Given the description of an element on the screen output the (x, y) to click on. 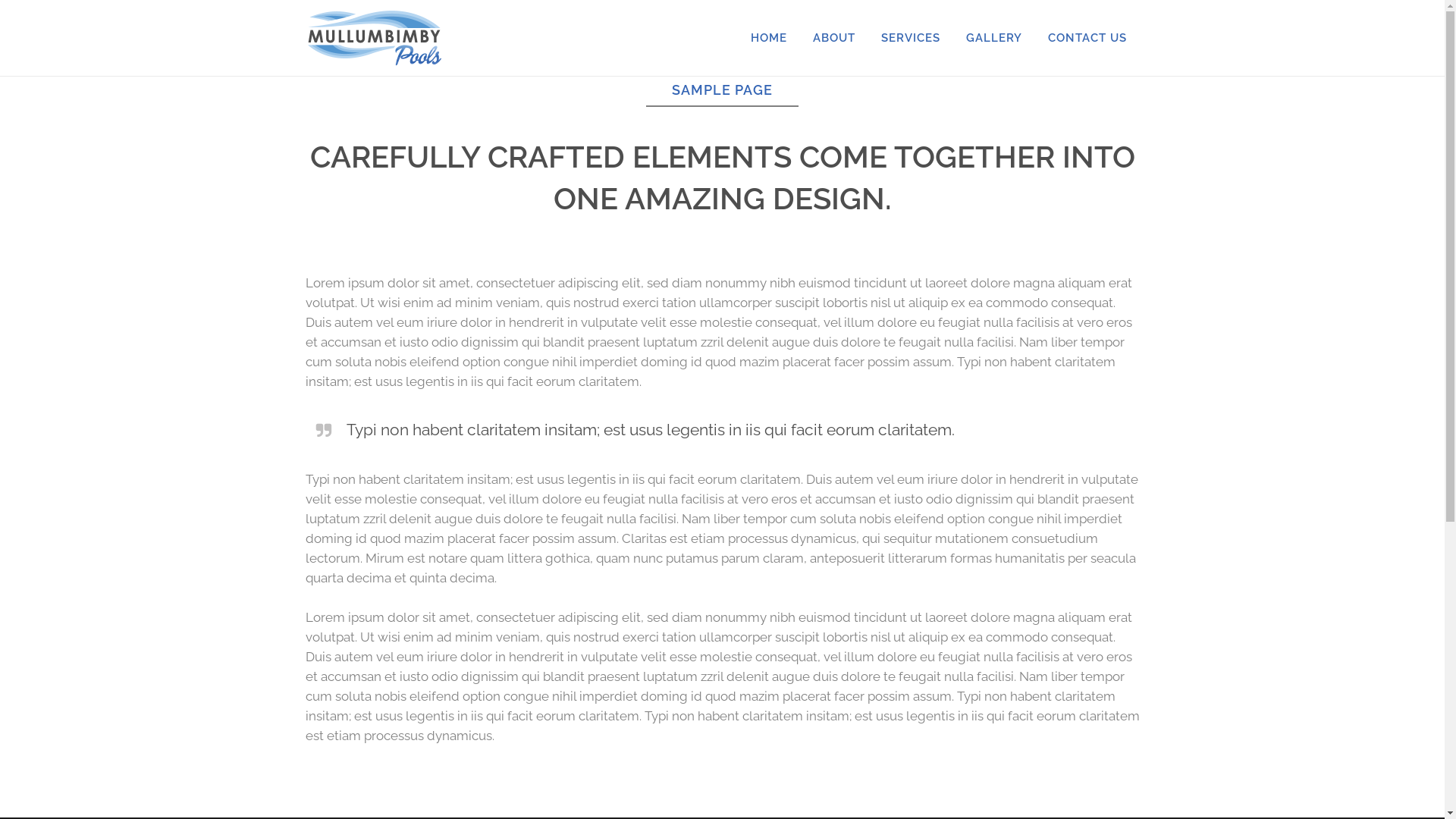
SERVICES Element type: text (909, 37)
Web Site Element type: text (901, 798)
(02) 6684 4846 Element type: text (388, 590)
HOME Element type: text (768, 37)
CONTACT US Element type: text (1086, 37)
GALLERY Element type: text (993, 37)
ABOUT Element type: text (833, 37)
Fastdot.Digital Element type: text (1167, 798)
